Given the description of an element on the screen output the (x, y) to click on. 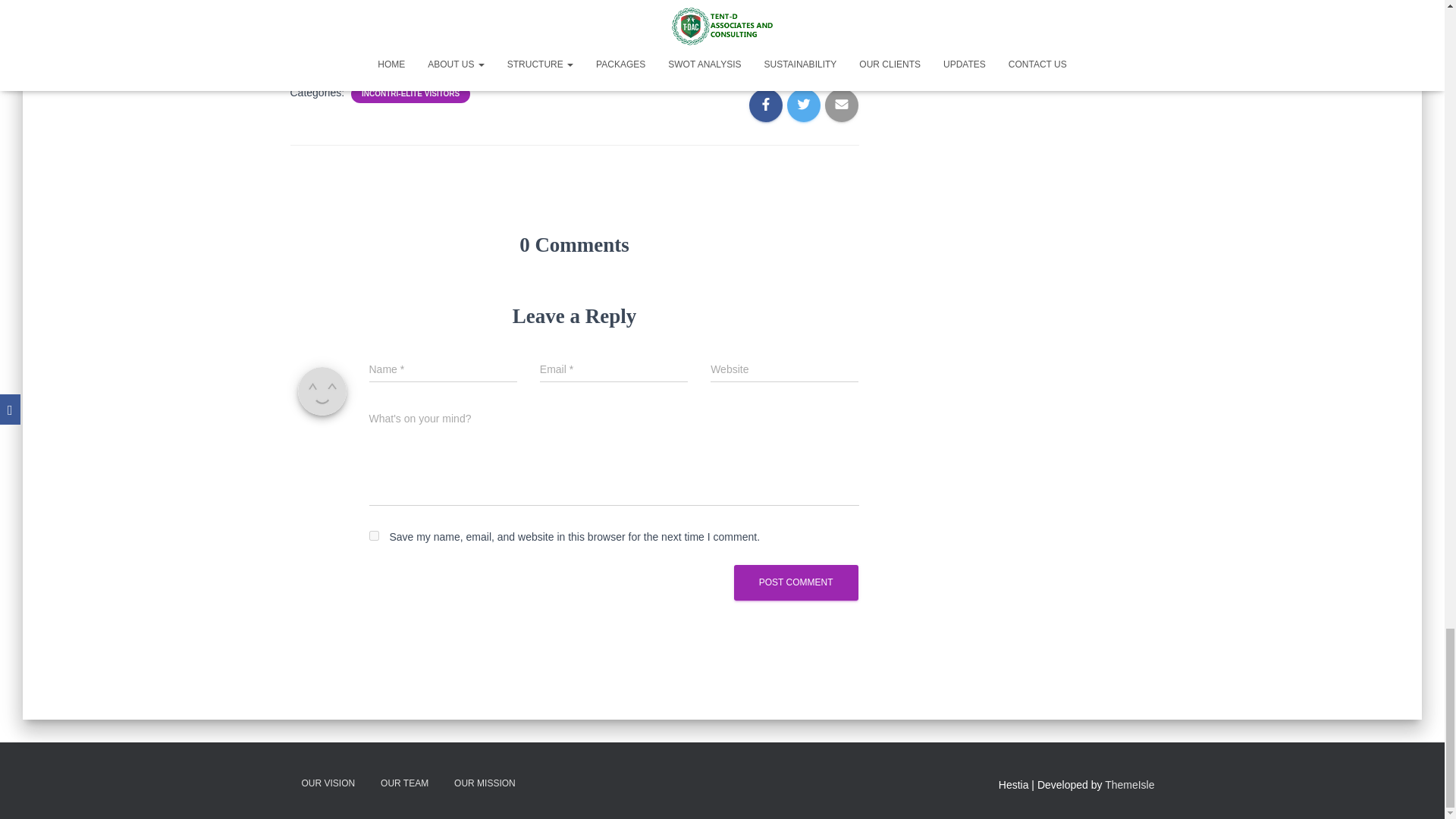
Post Comment (796, 582)
ThemeIsle (1129, 784)
yes (373, 535)
OUR MISSION (484, 783)
Post Comment (796, 582)
OUR TEAM (404, 783)
INCONTRI-ELITE VISITORS (410, 93)
OUR VISION (327, 783)
